Given the description of an element on the screen output the (x, y) to click on. 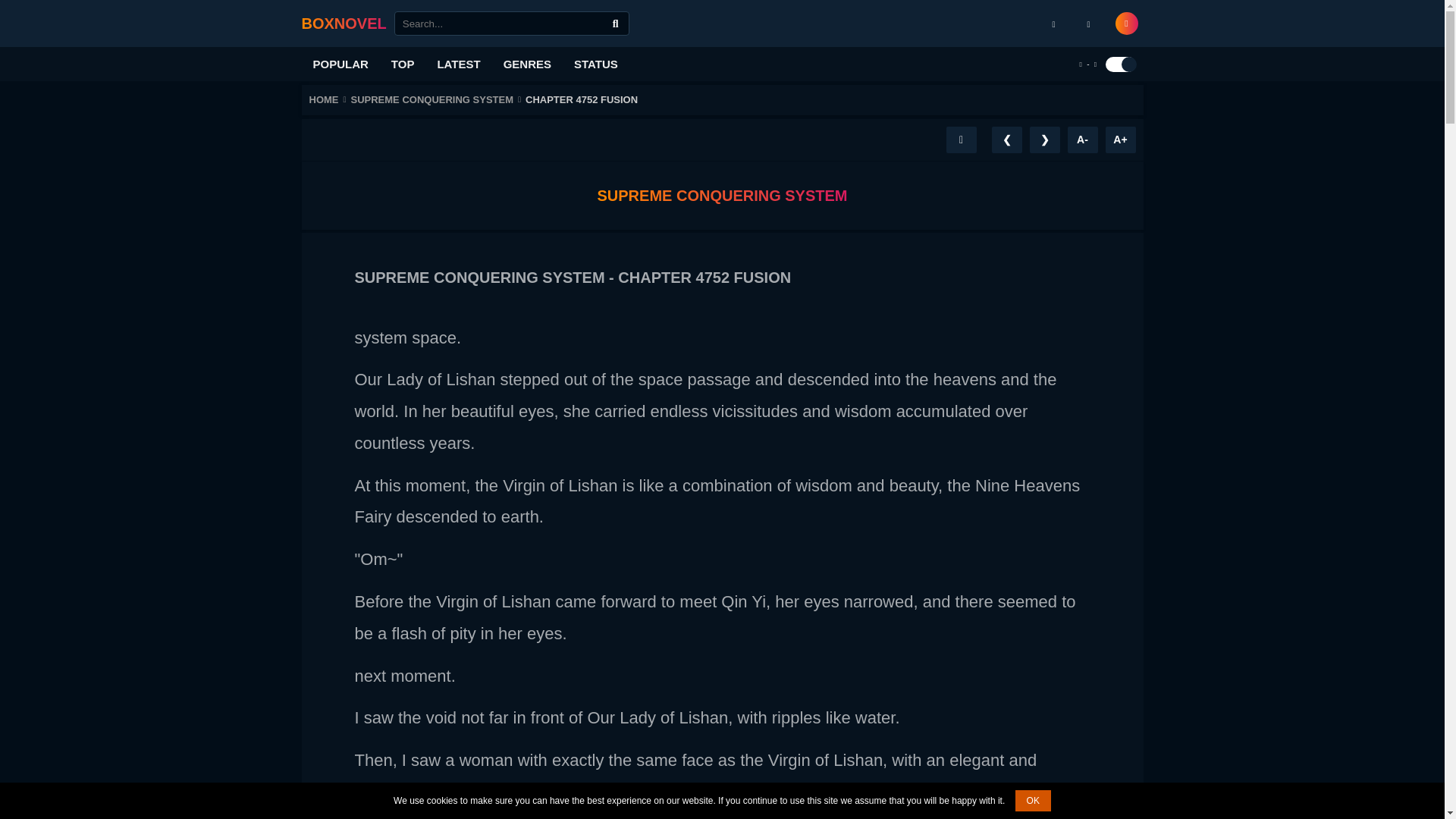
Home (329, 99)
TOP (403, 63)
Advance search (615, 23)
Decrease text size (1082, 139)
LATEST (458, 63)
Popular novels (340, 63)
Previous chapter (1006, 139)
POPULAR (340, 63)
Next chapter (1044, 139)
Supreme Conquering System (437, 99)
